Given the description of an element on the screen output the (x, y) to click on. 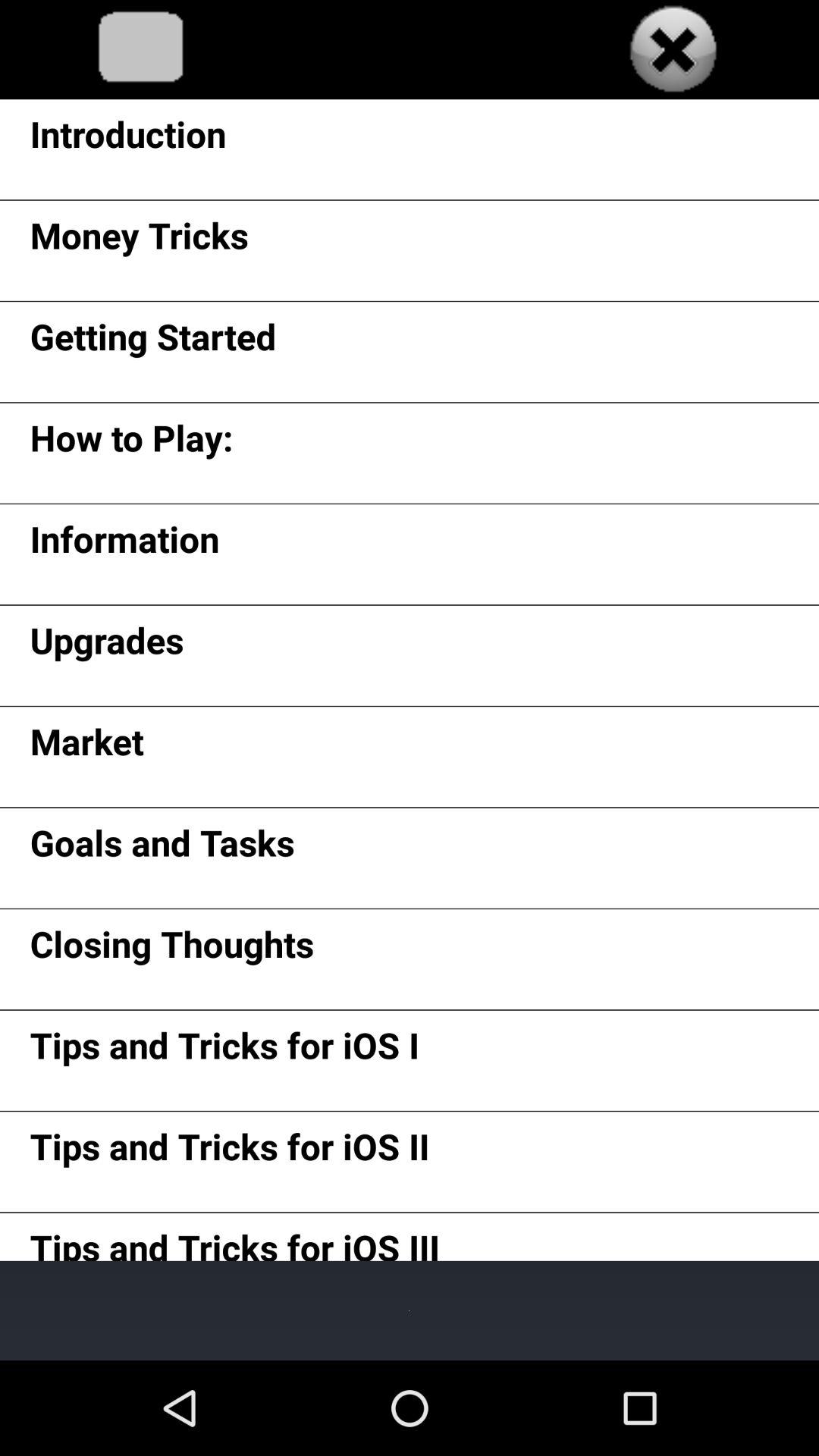
turn on item above goals and tasks (86, 746)
